Given the description of an element on the screen output the (x, y) to click on. 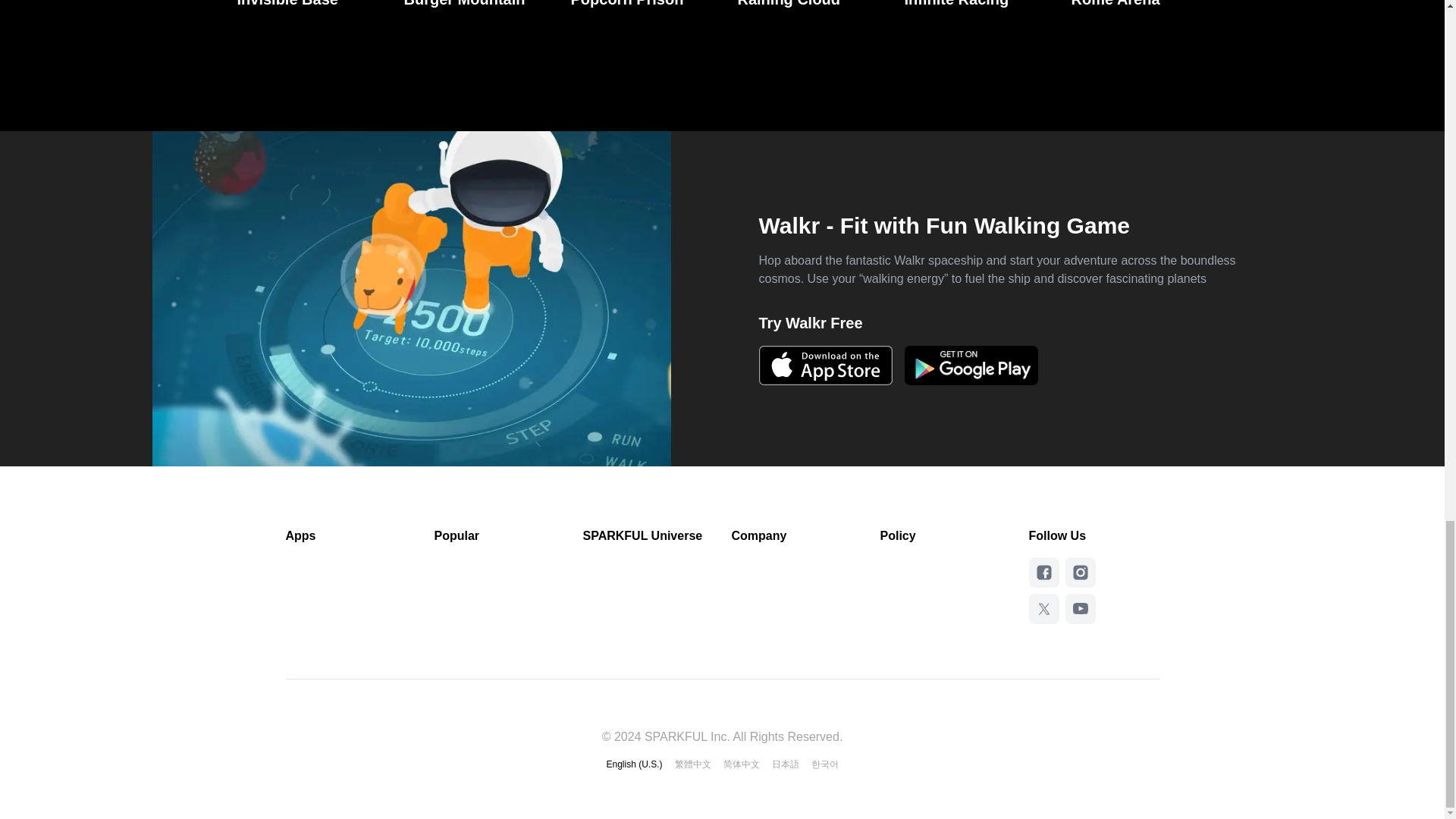
YouTube (1079, 608)
X (1042, 608)
Instagram (1079, 572)
Apps (349, 536)
Policy (944, 536)
X (1042, 608)
Popular (498, 536)
YouTube (1079, 608)
Instagram (1079, 572)
Facebook (1042, 572)
Company (795, 536)
Facebook (1042, 572)
SPARKFUL Universe (647, 536)
